Given the description of an element on the screen output the (x, y) to click on. 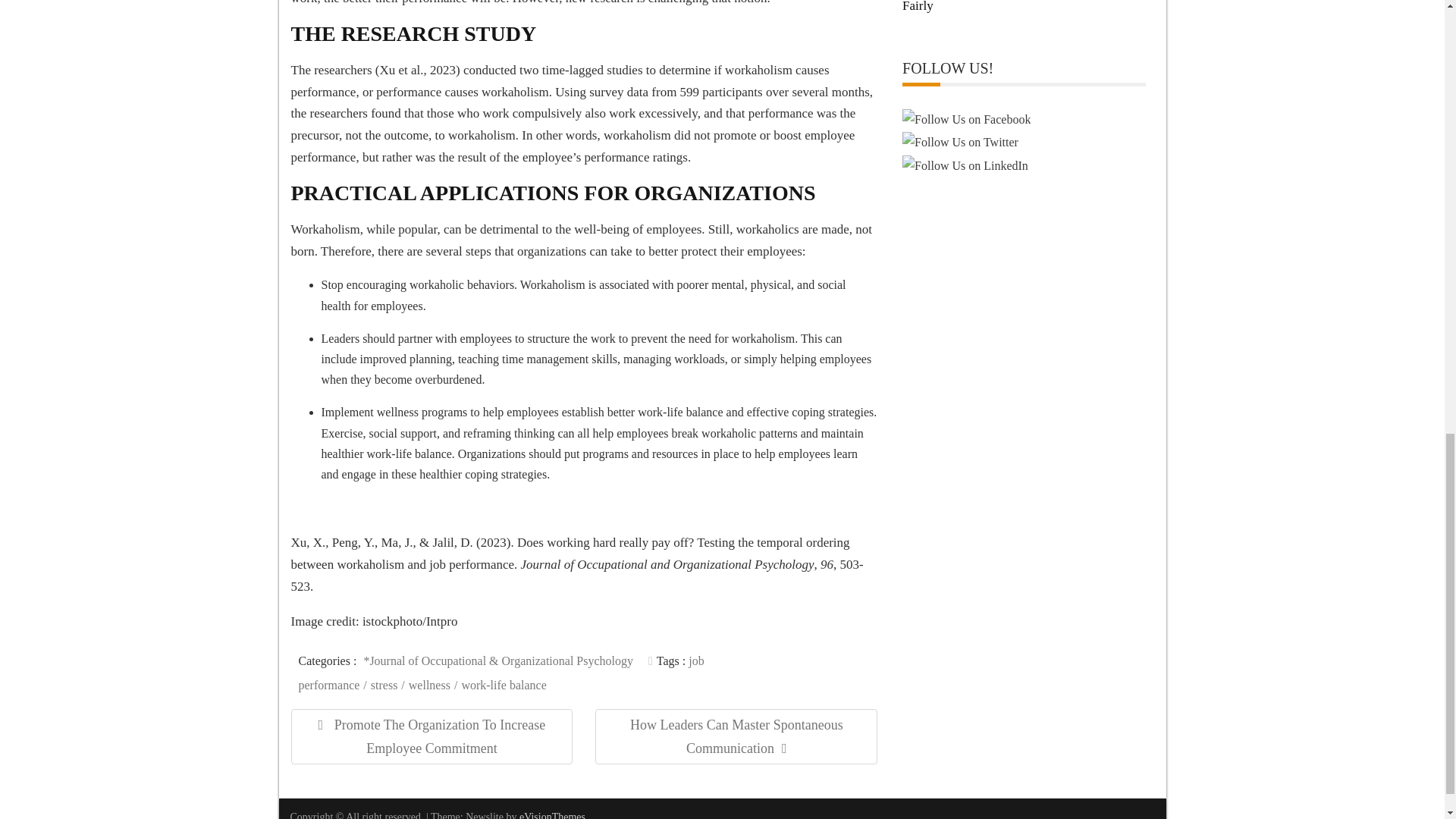
Follow Us on Facebook (966, 118)
stress (387, 684)
Follow Us on LinkedIn (964, 165)
How Organizations Can Rate Employees Fairly (1015, 6)
job performance (501, 672)
wellness (433, 684)
Follow Us on Twitter (959, 141)
work-life balance (505, 684)
